Given the description of an element on the screen output the (x, y) to click on. 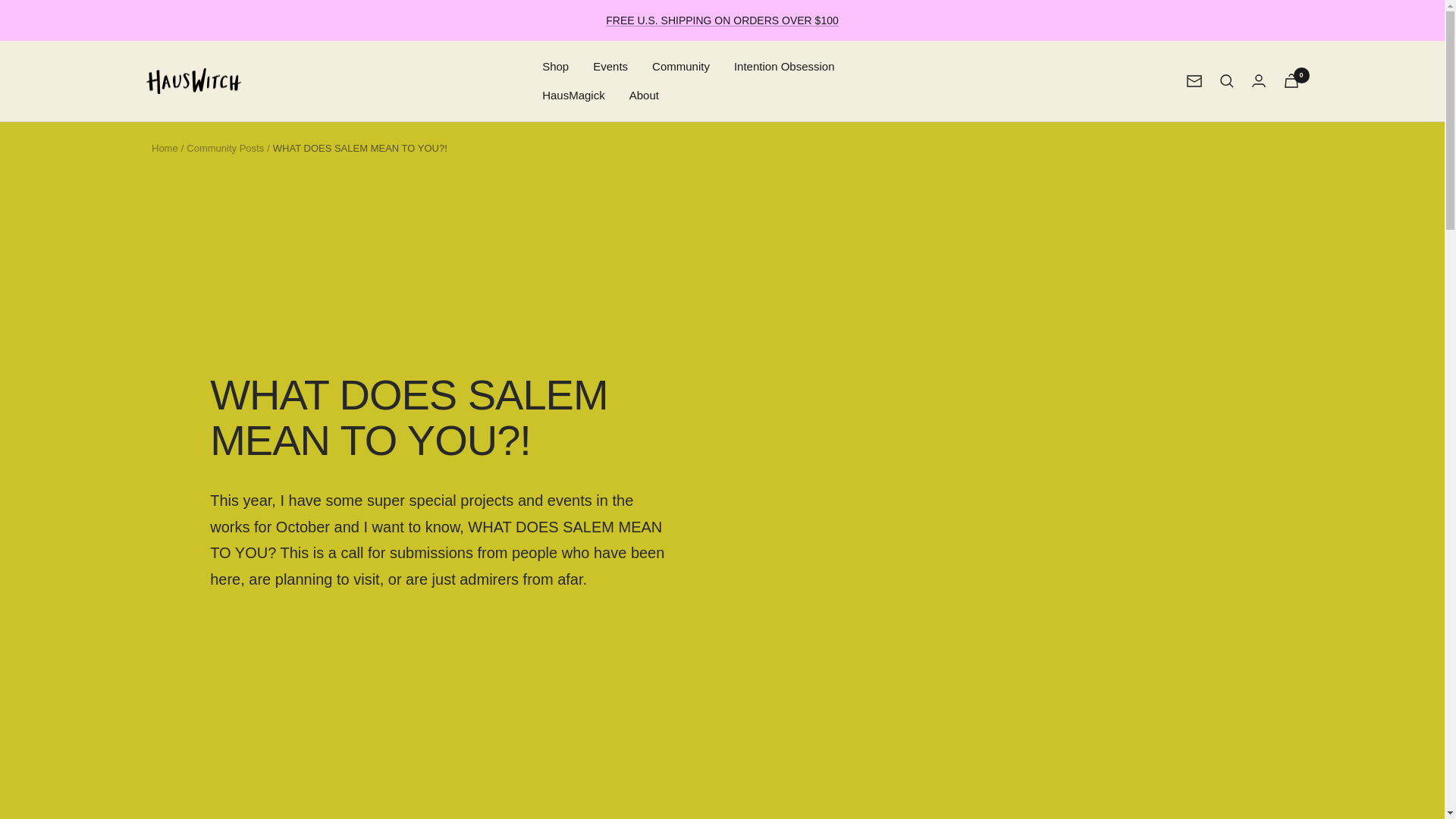
Events (609, 66)
Shop (555, 66)
Intention Obsession (783, 66)
HausMagick (573, 95)
Community (681, 66)
HausWitch (192, 81)
About (643, 95)
0 (1291, 80)
Newsletter (1194, 80)
Home (164, 147)
